Given the description of an element on the screen output the (x, y) to click on. 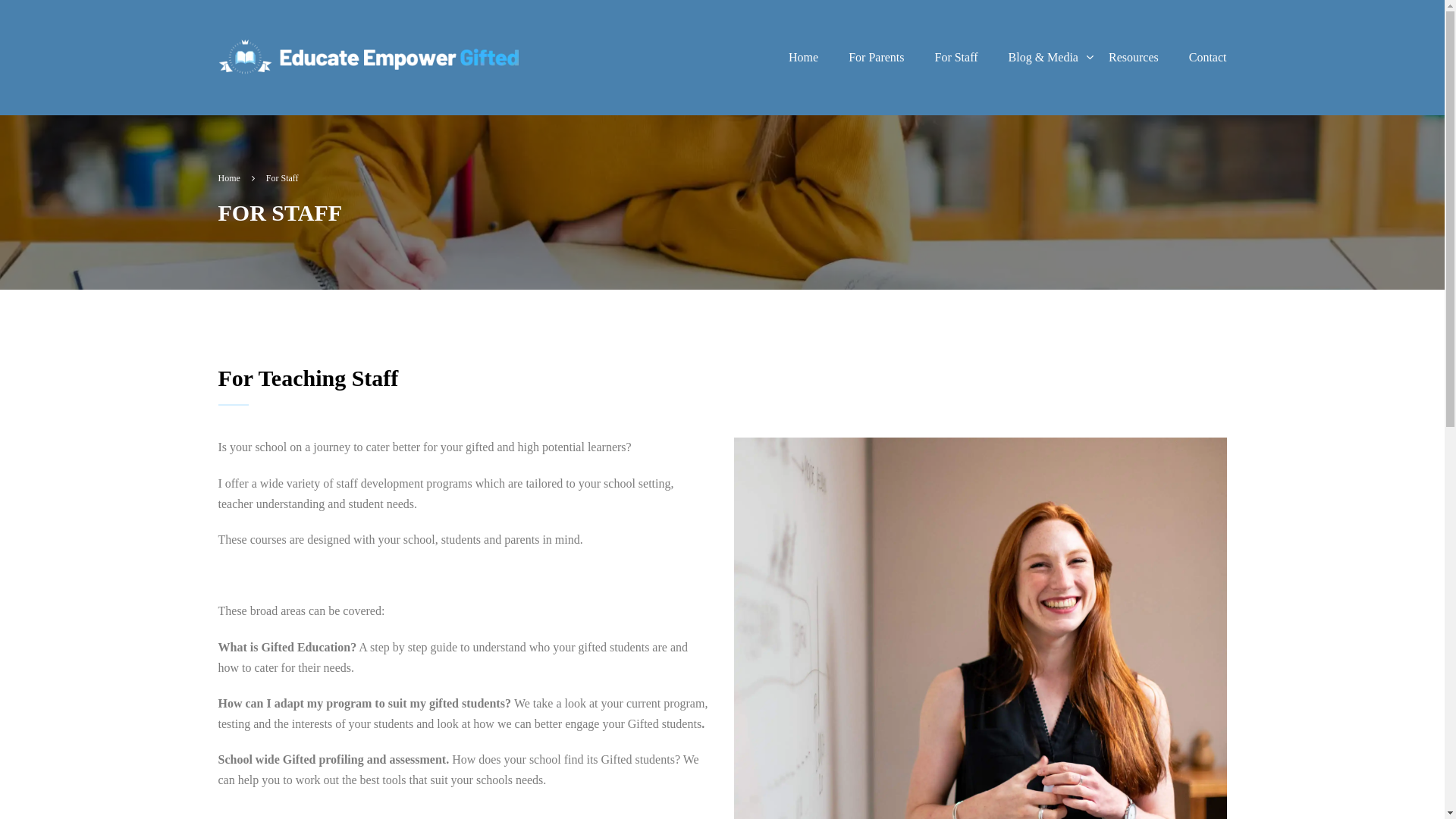
For Parents Element type: text (876, 57)
Resources Element type: text (1133, 57)
Contact Element type: text (1199, 57)
Home Element type: text (803, 57)
Blog & Media Element type: text (1043, 57)
Home Element type: text (236, 178)
For Staff Element type: text (955, 57)
